Given the description of an element on the screen output the (x, y) to click on. 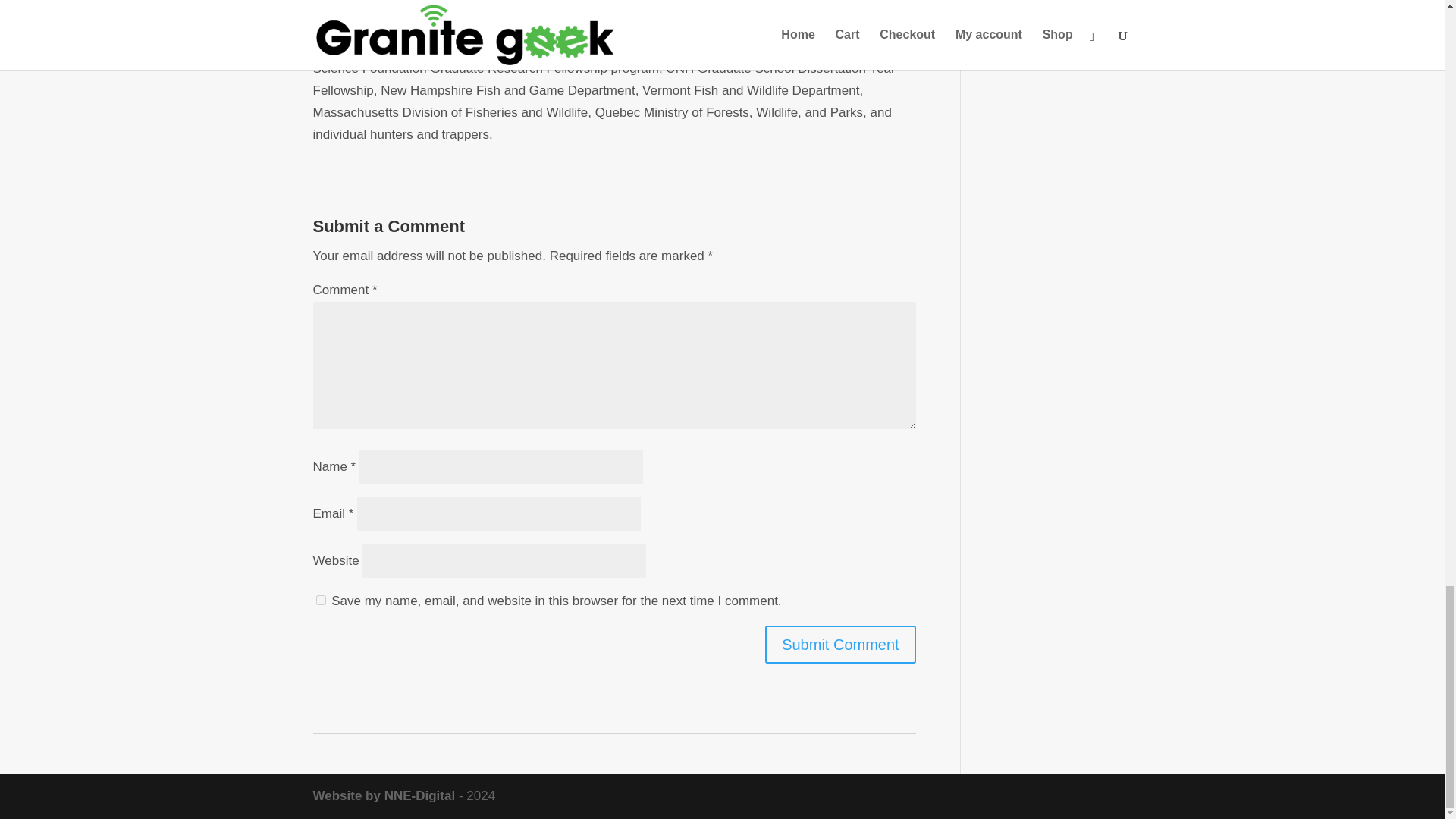
Submit Comment (840, 644)
yes (319, 600)
Submit Comment (840, 644)
Website by NNE-Digital (383, 795)
